Given the description of an element on the screen output the (x, y) to click on. 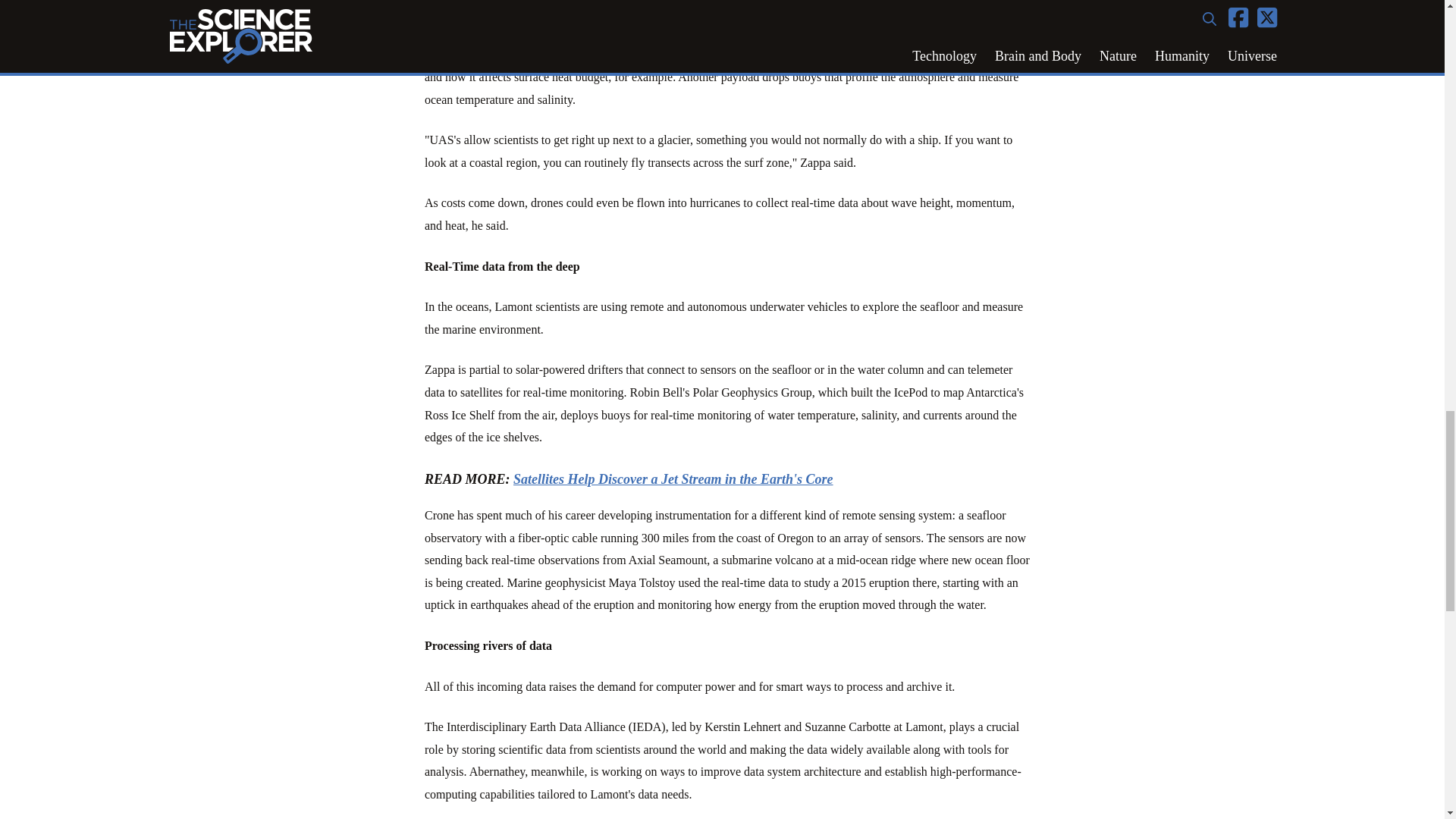
Satellites Help Discover a Jet Stream in the Earth's Core (672, 478)
